Given the description of an element on the screen output the (x, y) to click on. 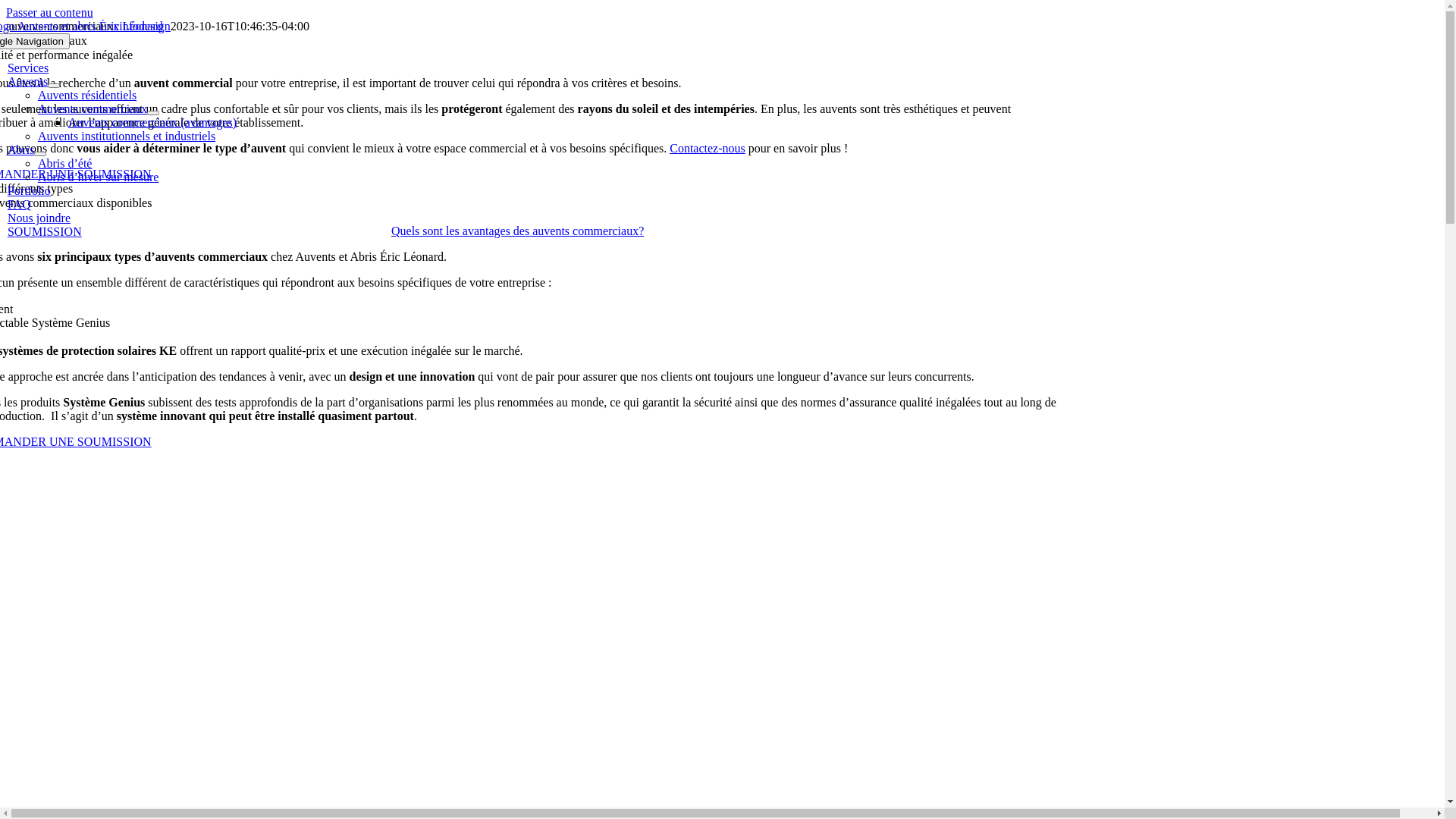
Quels sont les avantages des auvents commerciaux? Element type: text (517, 230)
Contactez-nous Element type: text (707, 147)
Auvents commerciaux Element type: text (92, 108)
Services Element type: text (27, 67)
Passer au contenu Element type: text (49, 12)
Auvents Element type: text (27, 81)
Nous joindre Element type: text (38, 217)
Auvents commerciaux (avantages) Element type: text (152, 122)
Auvents institutionnels et industriels Element type: text (126, 135)
FAQ Element type: text (19, 203)
Portfolio Element type: text (28, 190)
xinfodesign Element type: text (141, 25)
Abris Element type: text (20, 149)
SOUMISSION Element type: text (44, 231)
